Given the description of an element on the screen output the (x, y) to click on. 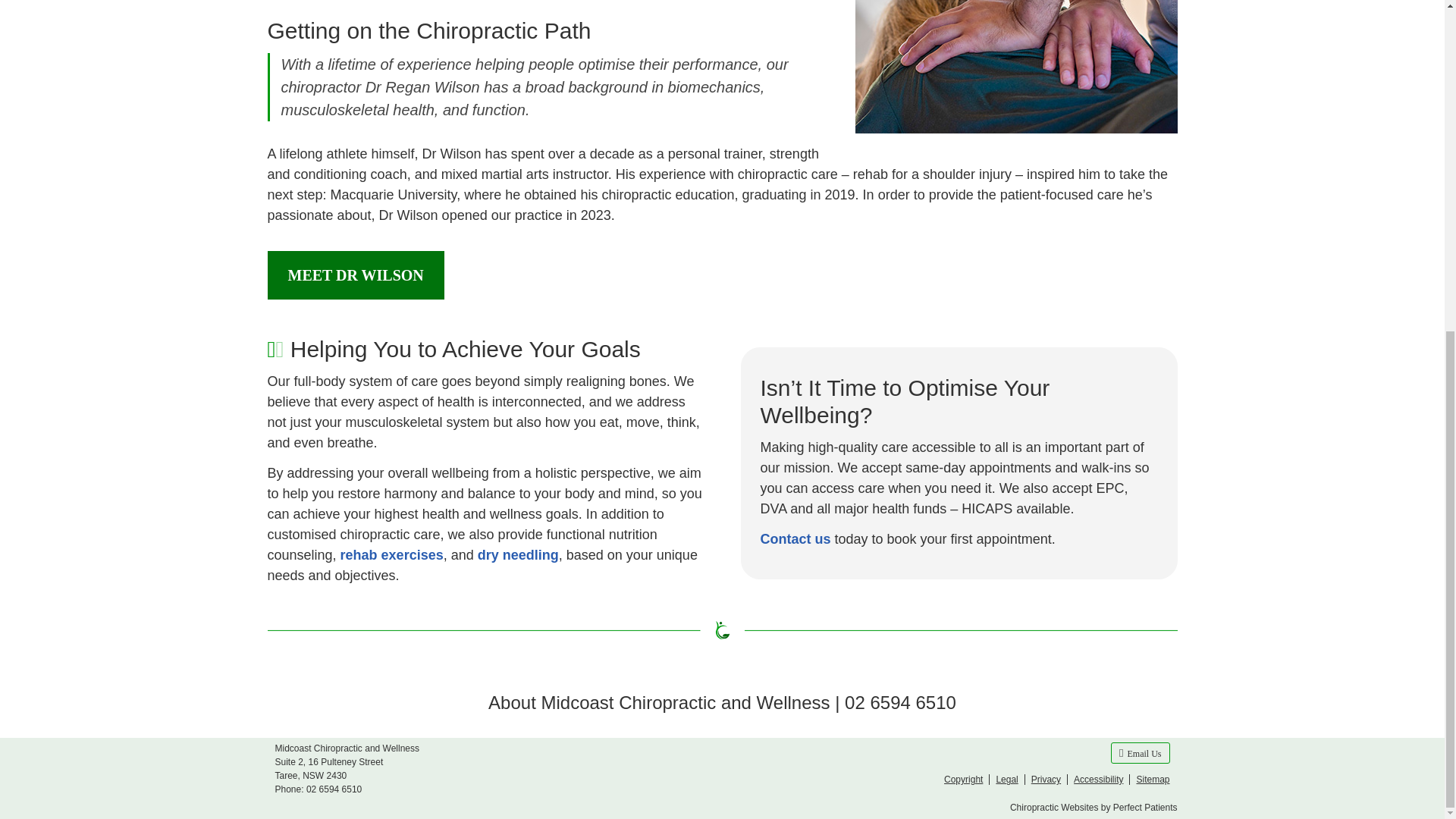
rehab exercises (392, 554)
Contact (1139, 752)
dry needling (518, 554)
Footer Links (1053, 779)
MEET DR WILSON (355, 274)
Contact us (794, 539)
